Given the description of an element on the screen output the (x, y) to click on. 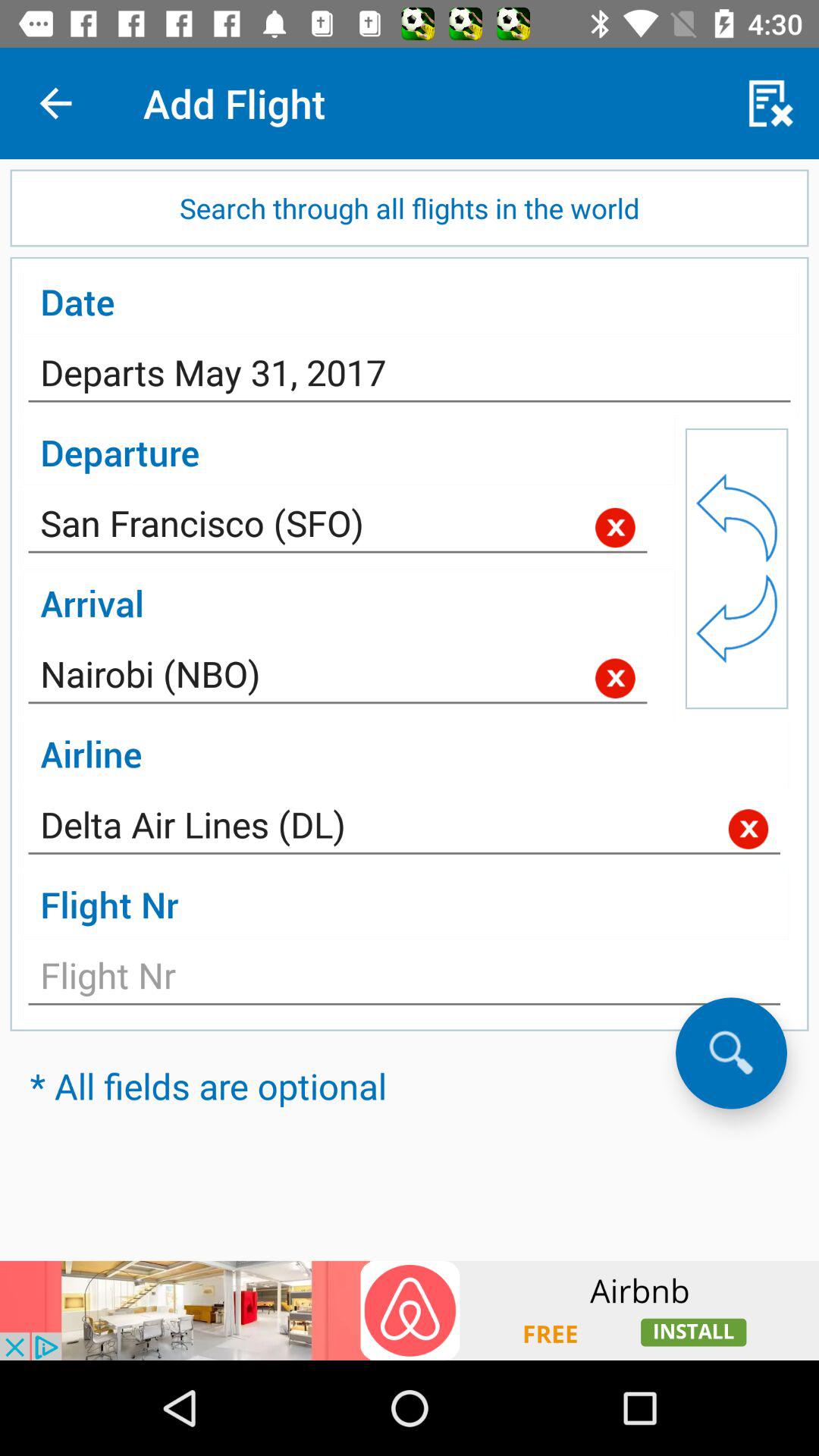
flight number section (404, 979)
